Given the description of an element on the screen output the (x, y) to click on. 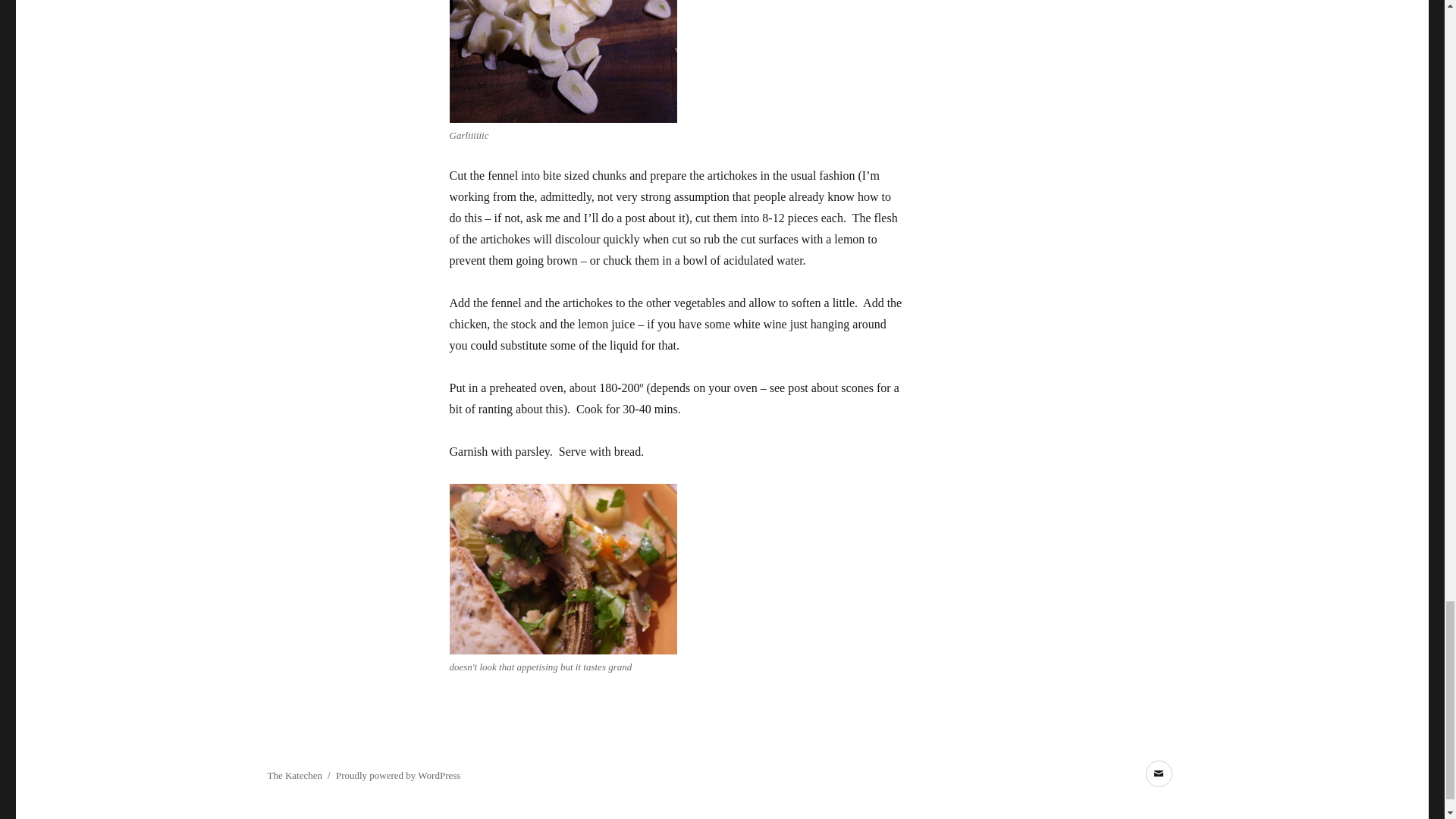
serve with bread (562, 569)
Garlic (562, 61)
